Given the description of an element on the screen output the (x, y) to click on. 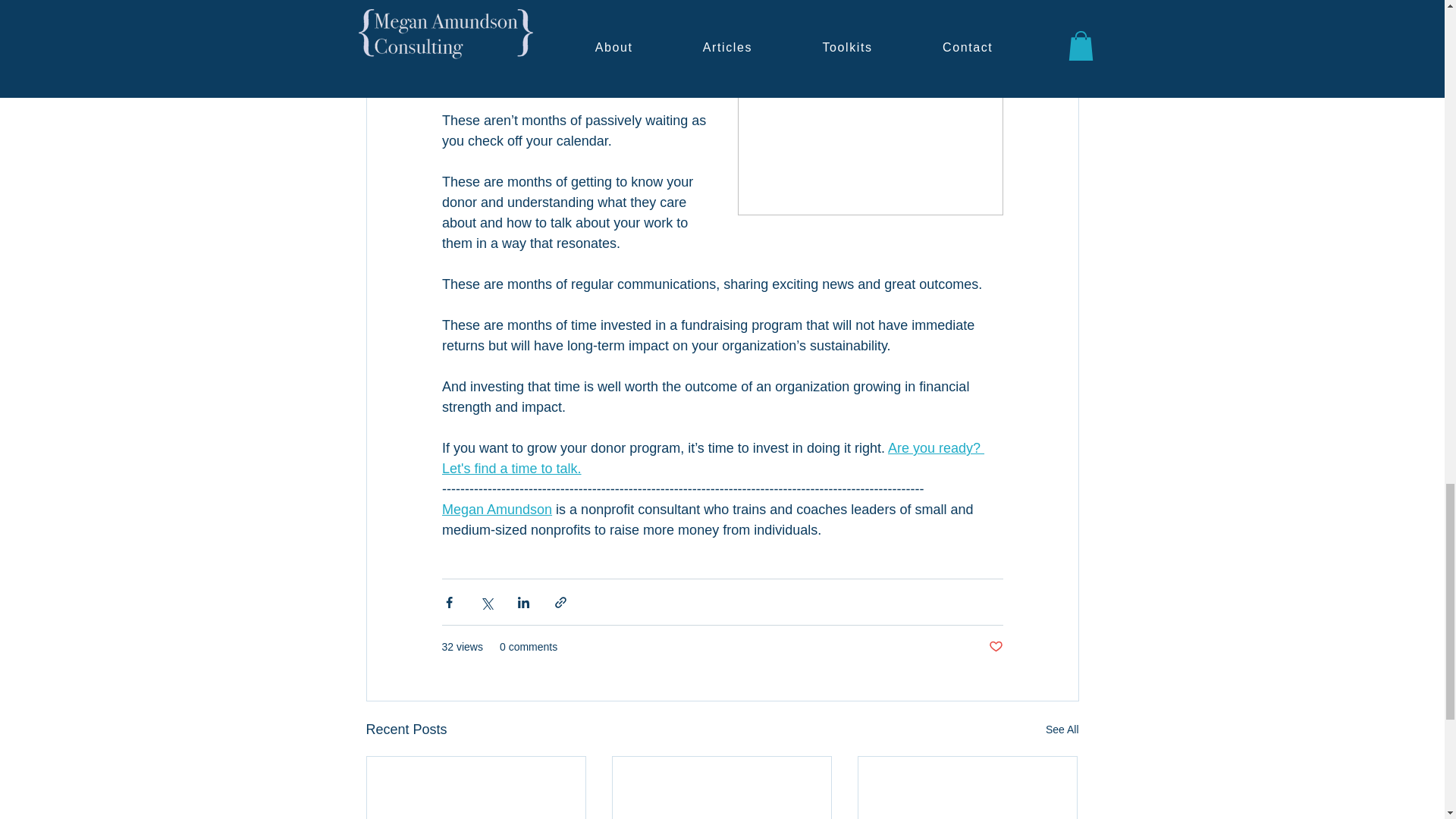
See All (1061, 730)
Are you ready? Let's find a time to talk. (712, 457)
Megan Amundson (496, 509)
Post not marked as liked (995, 647)
